Given the description of an element on the screen output the (x, y) to click on. 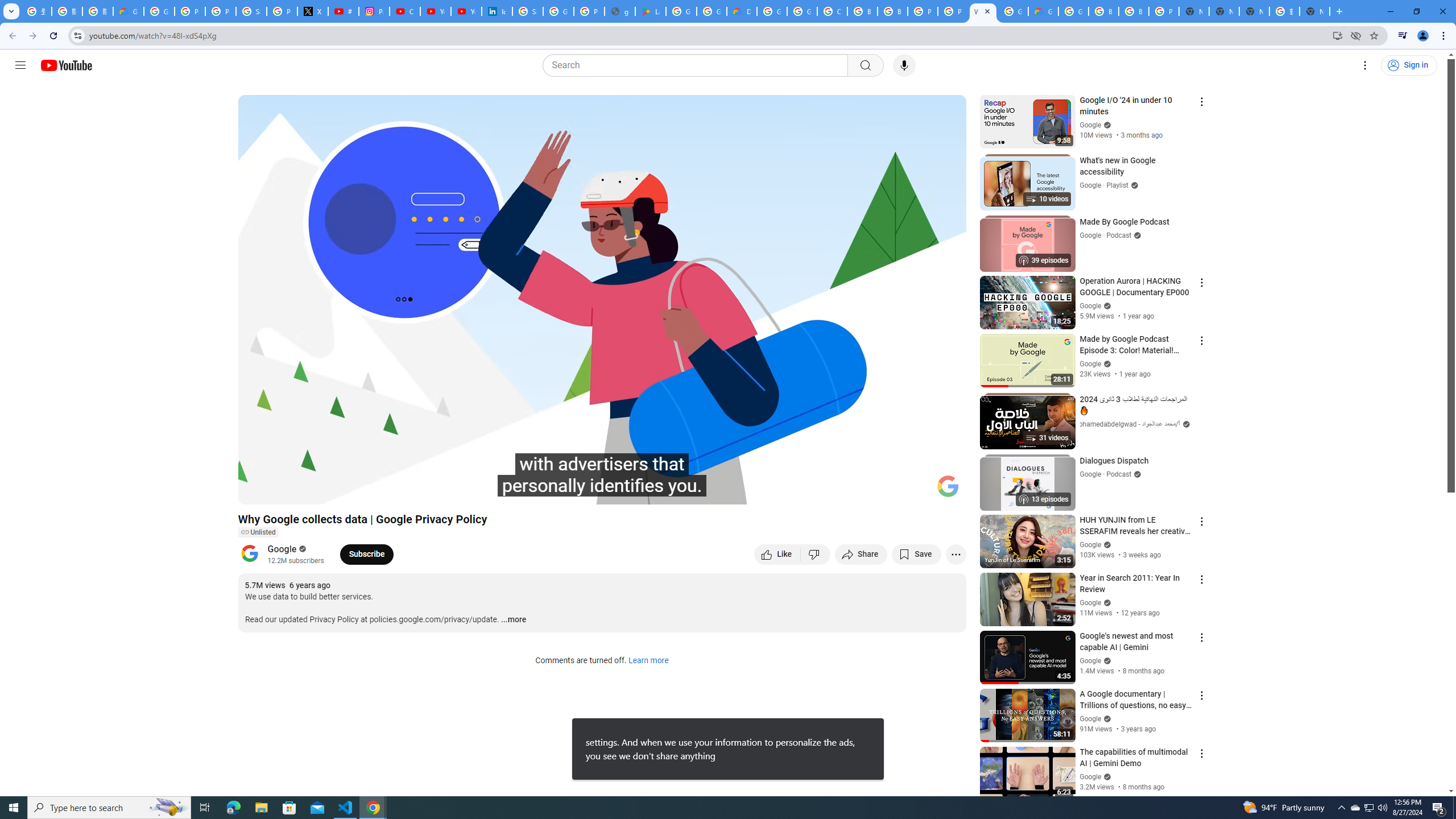
Browse Chrome as a guest - Computer - Google Chrome Help (1133, 11)
Mute (m) (312, 490)
New Tab (1314, 11)
Channel watermark (947, 486)
Browse Chrome as a guest - Computer - Google Chrome Help (892, 11)
More actions (955, 554)
Like (777, 554)
